Given the description of an element on the screen output the (x, y) to click on. 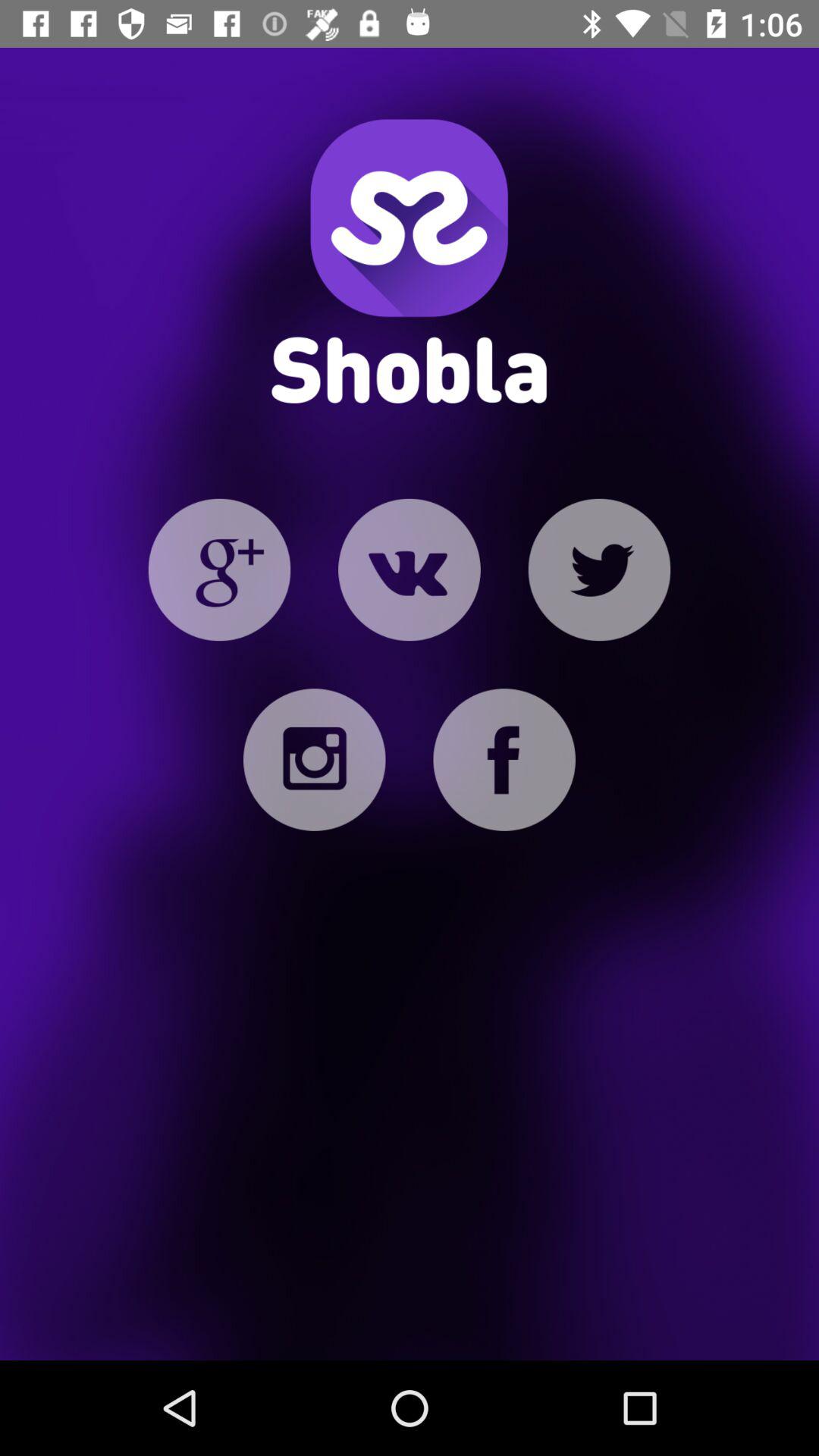
click to the twitter option (599, 569)
